Given the description of an element on the screen output the (x, y) to click on. 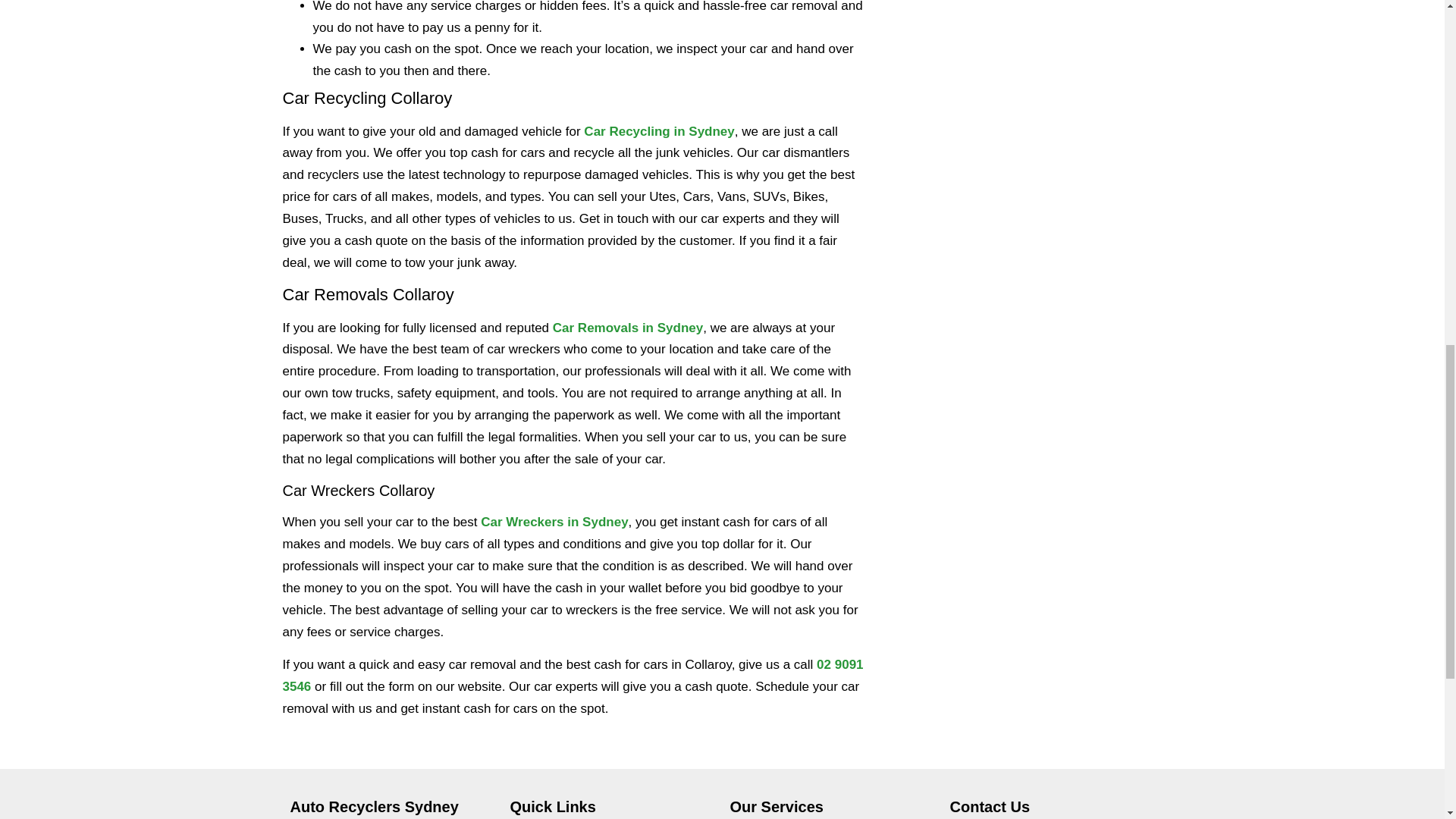
Car Removals in Sydney (628, 327)
Car Recycling in Sydney (658, 131)
02 9091 3546 (572, 675)
Car Wreckers in Sydney (553, 522)
